Given the description of an element on the screen output the (x, y) to click on. 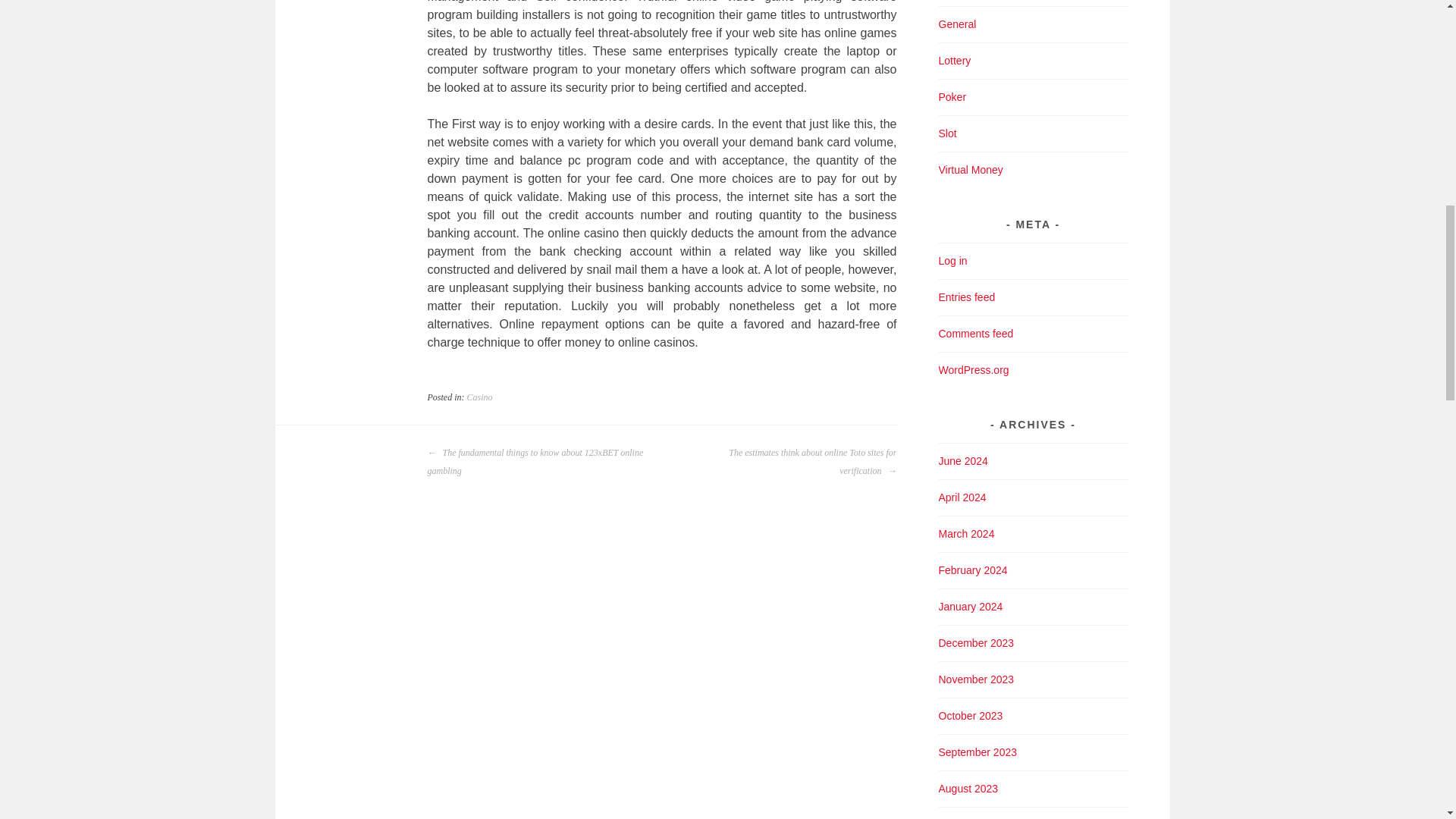
January 2024 (971, 606)
Virtual Money (971, 169)
April 2024 (963, 497)
November 2023 (976, 679)
Poker (952, 96)
Comments feed (976, 333)
General (957, 24)
March 2024 (966, 533)
Slot (947, 133)
Lottery (955, 60)
December 2023 (976, 643)
February 2024 (973, 570)
Casino (480, 397)
